Given the description of an element on the screen output the (x, y) to click on. 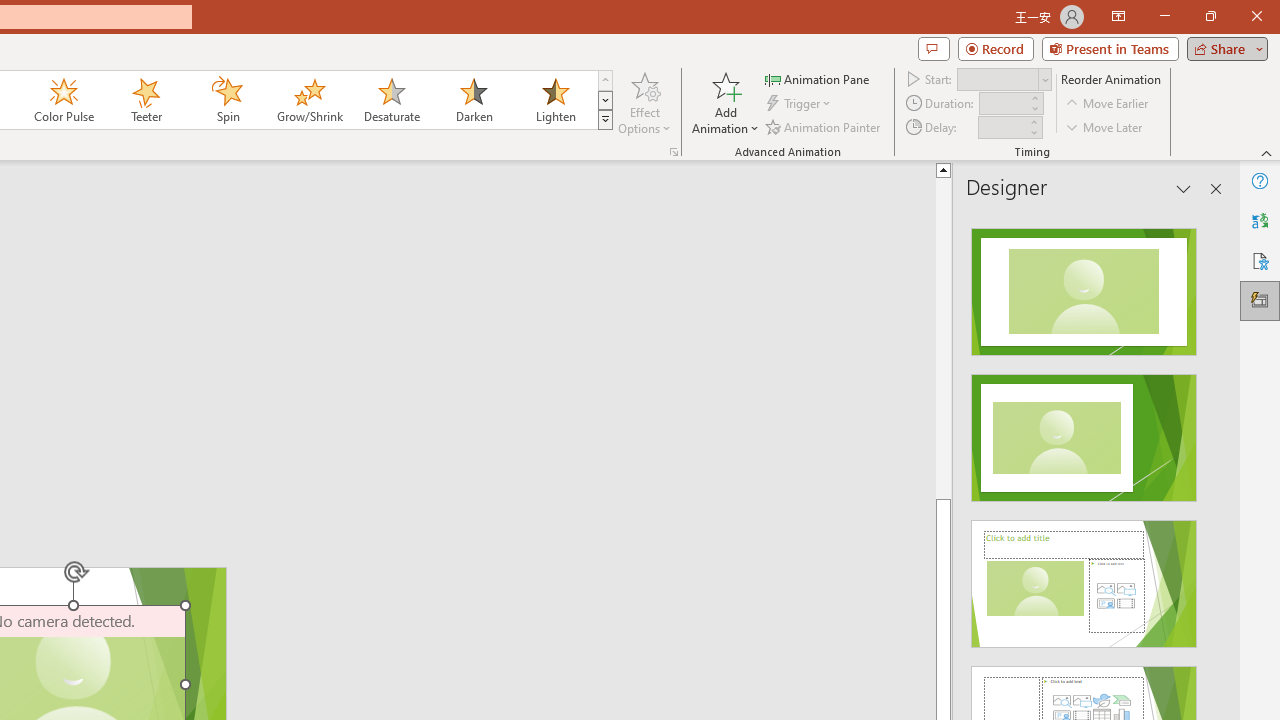
More Options... (673, 151)
Less (1033, 132)
Design Idea (1083, 577)
Spin (227, 100)
Move Earlier (1107, 103)
Lighten (555, 100)
Animation Duration (1003, 103)
Animation Delay (1002, 127)
